Given the description of an element on the screen output the (x, y) to click on. 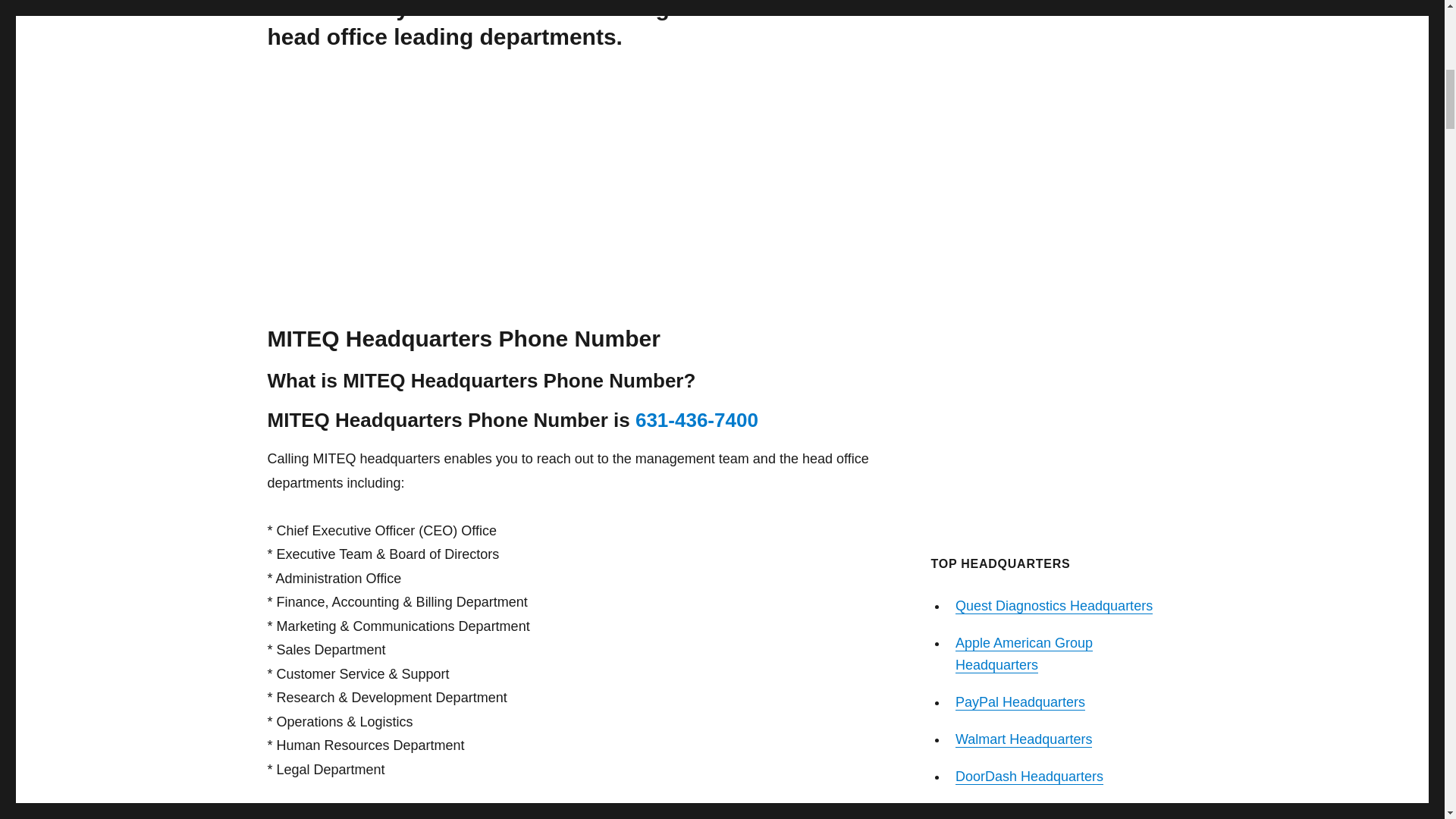
DoorDash Headquarters (1029, 776)
Quest Diagnostics Headquarters (1054, 605)
Apple American Group Headquarters (1024, 653)
631-436-7400 (696, 419)
Walmart Headquarters (1023, 739)
PayPal Headquarters (1019, 702)
Dominos Headquarters (1025, 812)
